Given the description of an element on the screen output the (x, y) to click on. 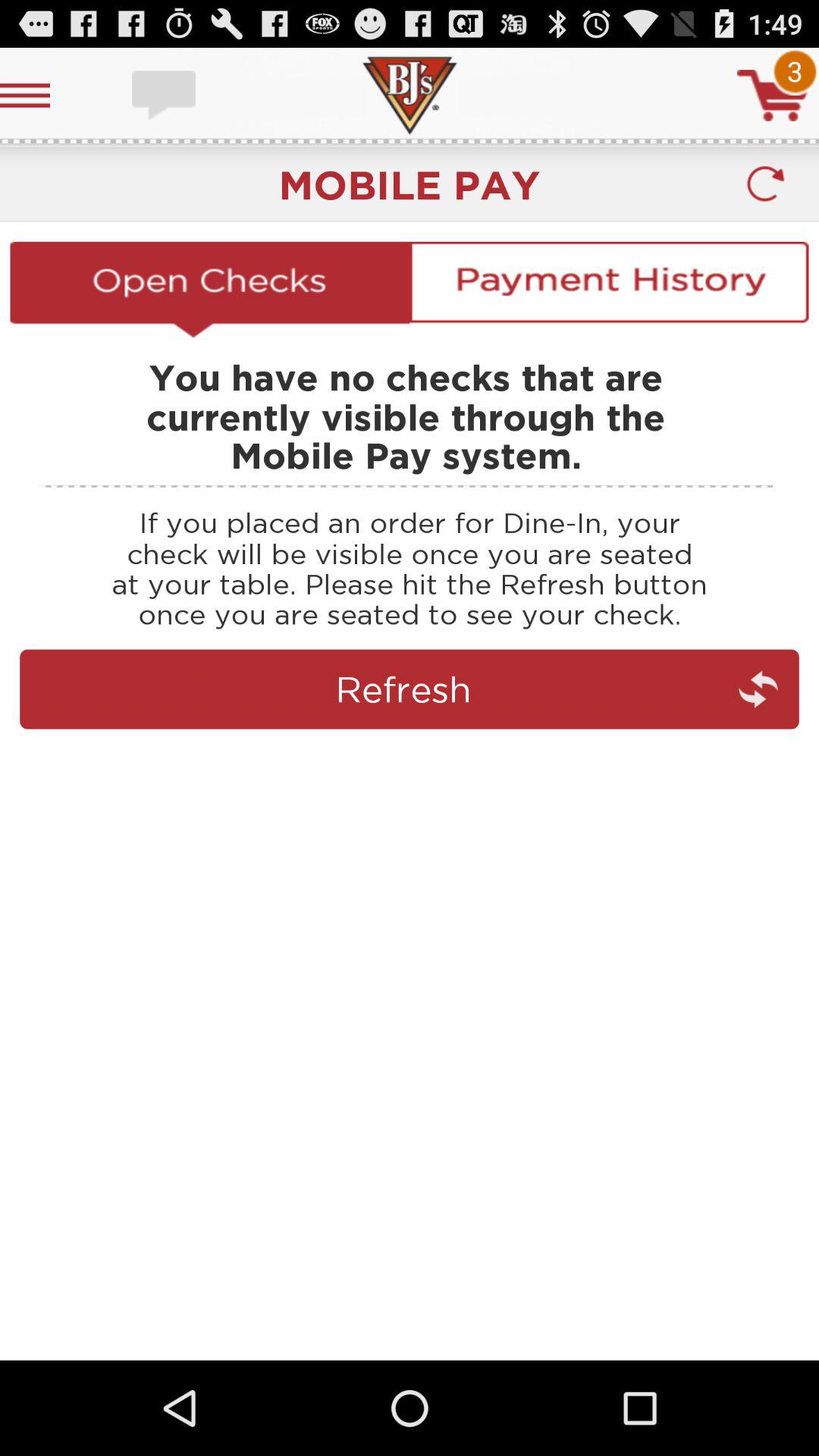
messages button (165, 95)
